Given the description of an element on the screen output the (x, y) to click on. 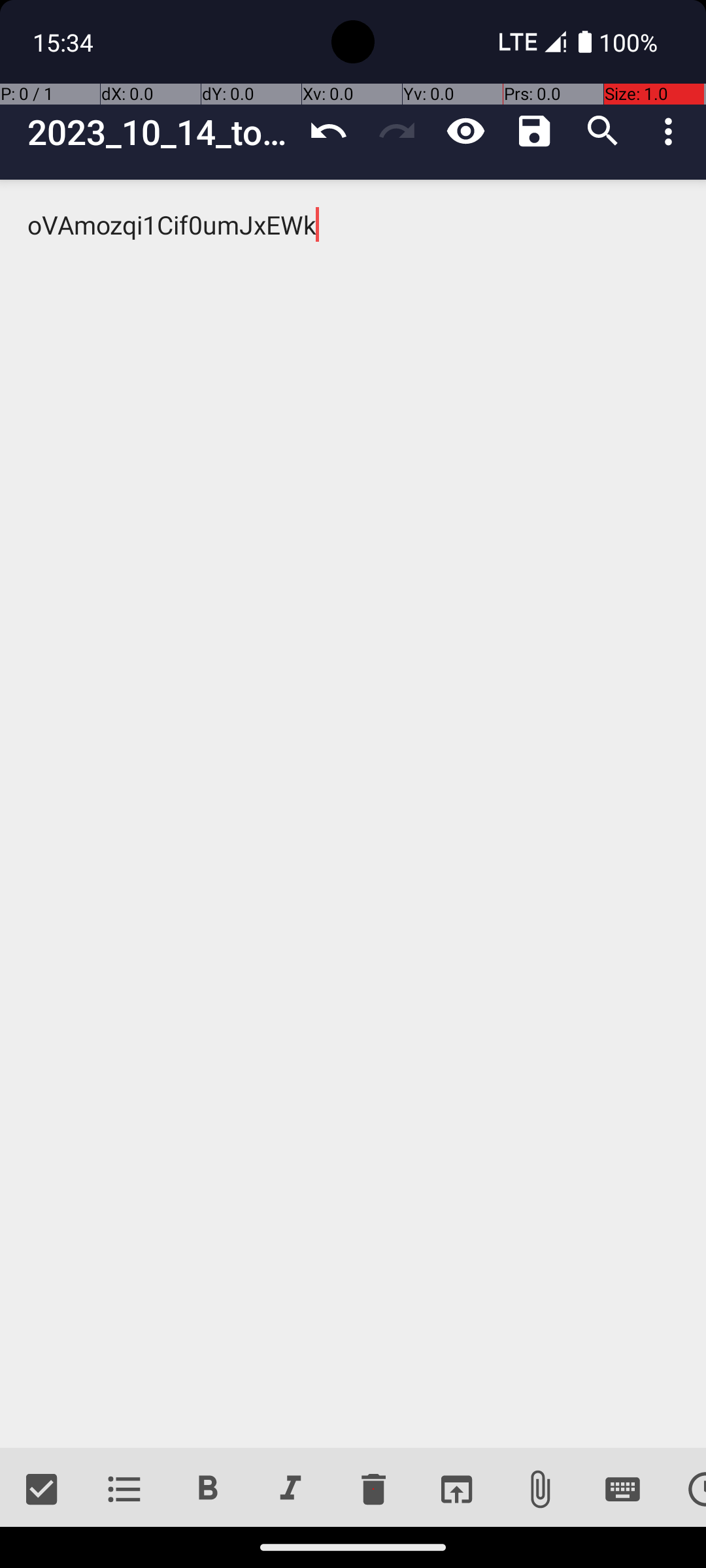
2023_10_14_tough_mouse_2023_04_01 Element type: android.widget.TextView (160, 131)
oVAmozqi1Cif0umJxEWk Element type: android.widget.EditText (353, 813)
